Given the description of an element on the screen output the (x, y) to click on. 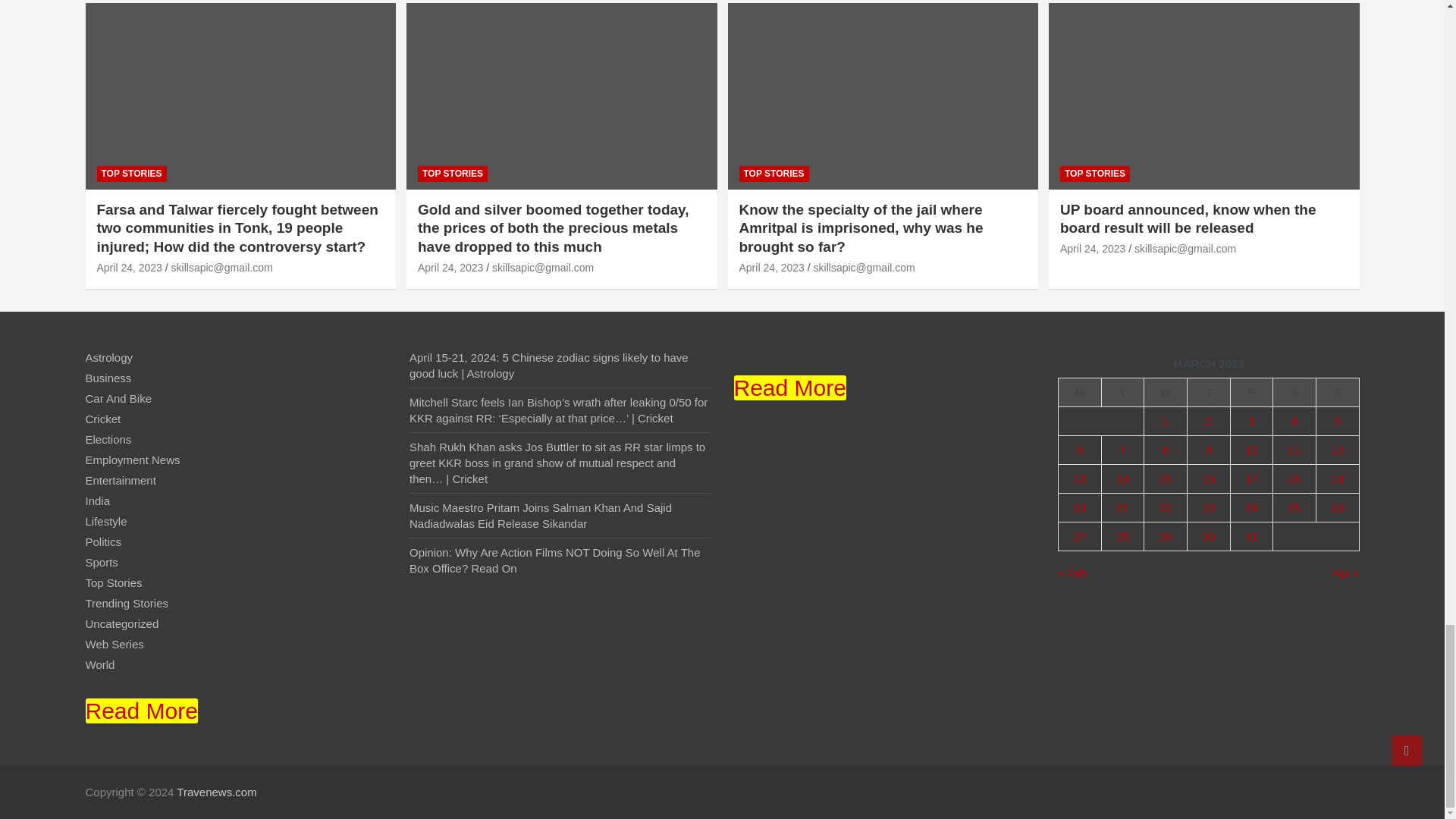
Monday (1080, 392)
Friday (1251, 392)
Sunday (1337, 392)
Saturday (1294, 392)
Thursday (1208, 392)
Tuesday (1122, 392)
Wednesday (1166, 392)
Travenews.com (216, 791)
